Given the description of an element on the screen output the (x, y) to click on. 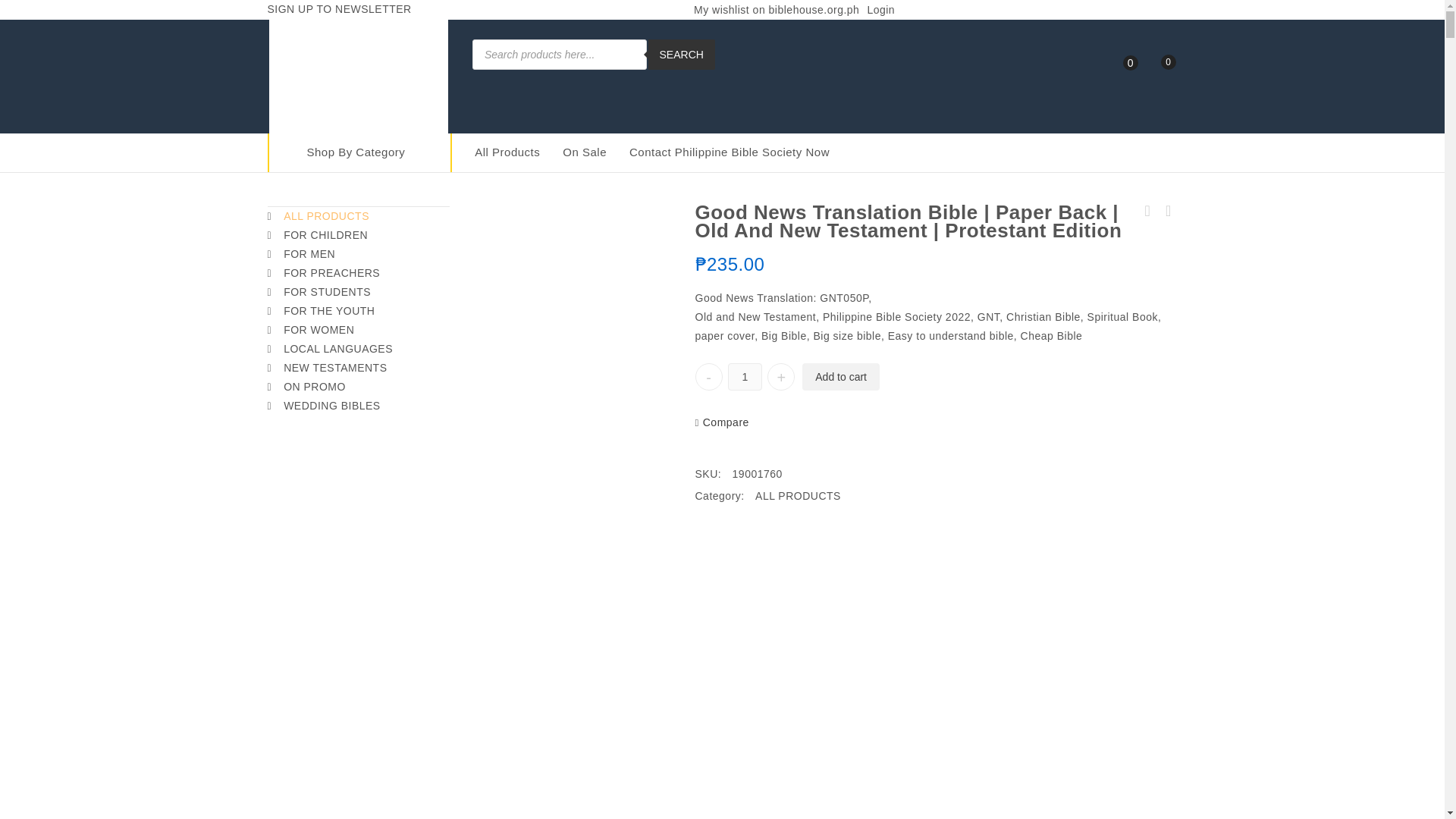
1 (744, 376)
FOR PREACHERS (357, 272)
FOR MEN (357, 253)
NEW TESTAMENTS (357, 367)
FOR THE YOUTH (357, 311)
SEARCH (680, 54)
- (708, 376)
The Philippine Bible Society Webstore (358, 73)
Qty (744, 376)
Add to cart (840, 376)
